Given the description of an element on the screen output the (x, y) to click on. 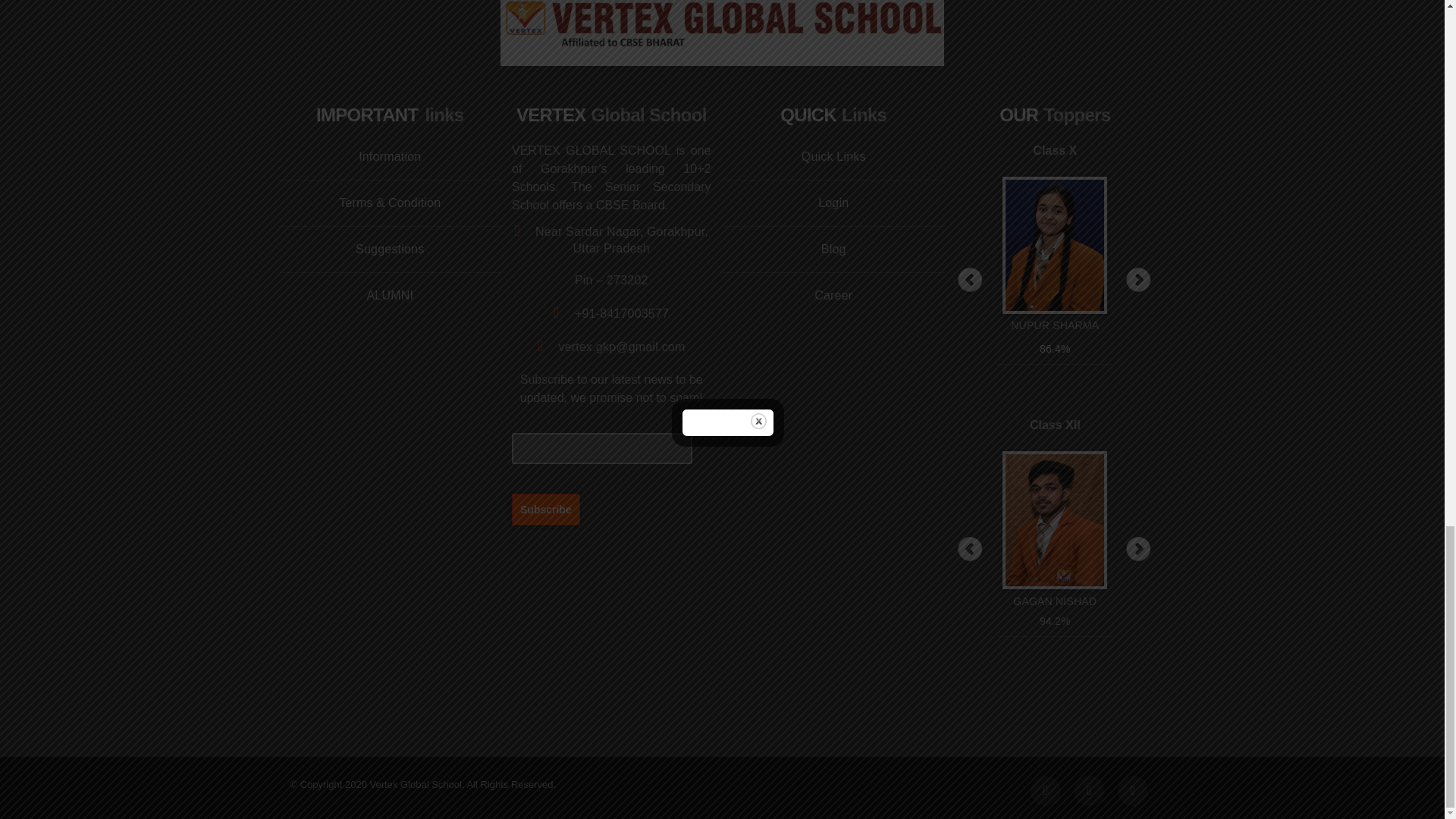
Subscribe (545, 508)
